Given the description of an element on the screen output the (x, y) to click on. 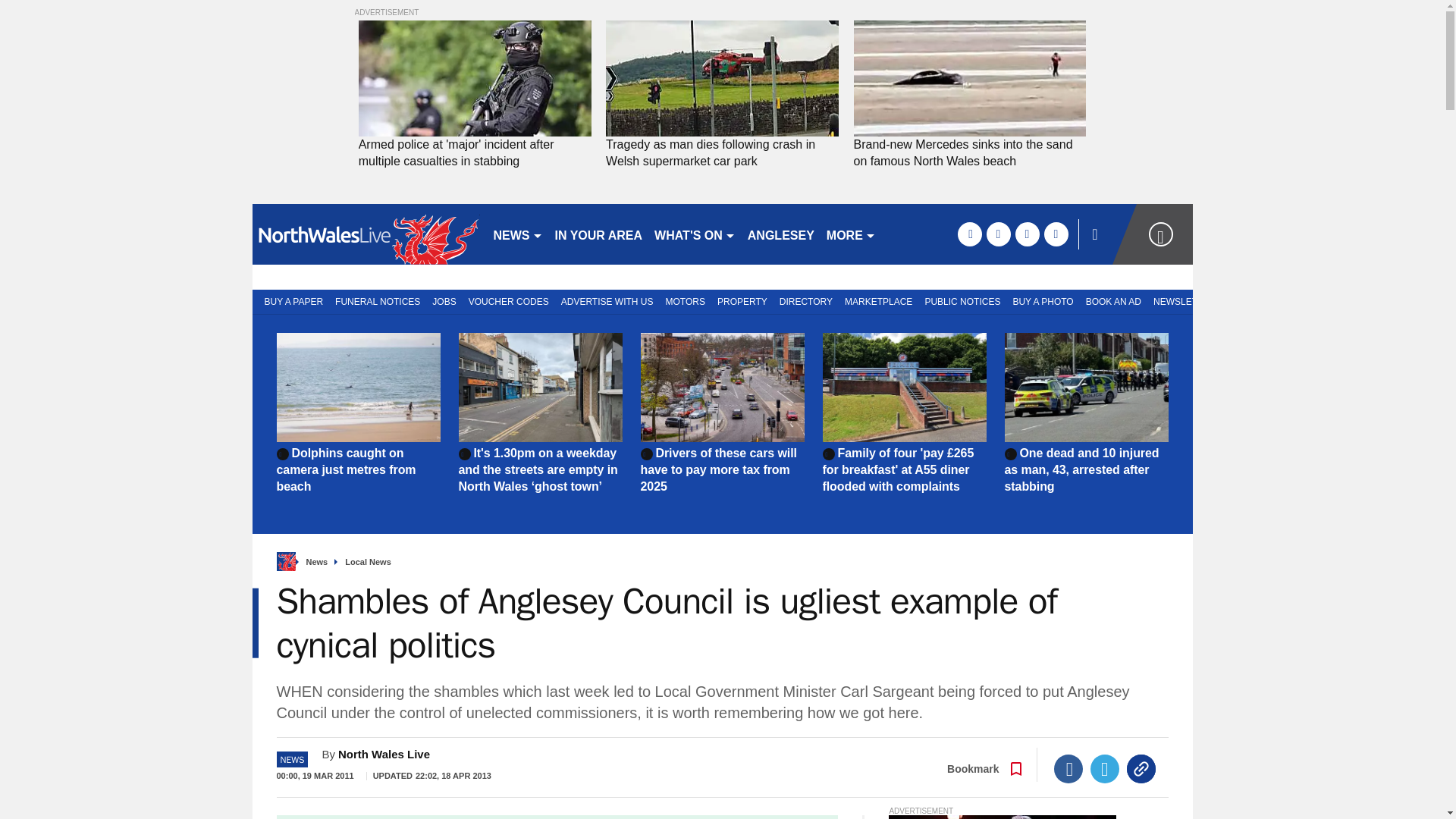
instagram (1055, 233)
NEWS (517, 233)
Twitter (1104, 768)
IN YOUR AREA (598, 233)
Facebook (1068, 768)
northwales (365, 233)
BUY A PAPER (290, 300)
facebook (968, 233)
pinterest (1026, 233)
